Given the description of an element on the screen output the (x, y) to click on. 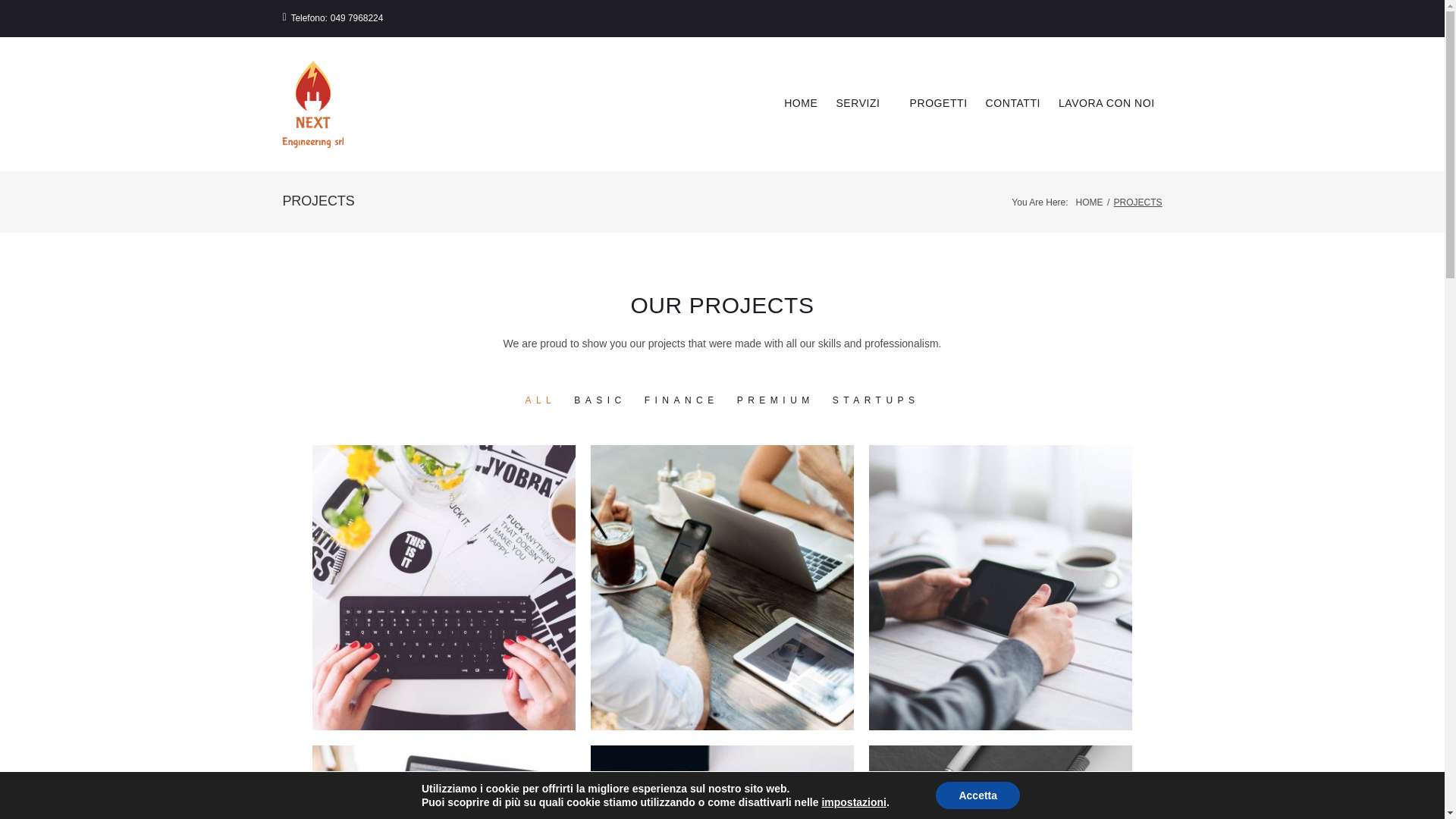
PROGETTI (938, 103)
LAVORA CON NOI (1106, 103)
HOME (800, 103)
Home (1088, 202)
049 7968224 (357, 18)
HOME (1088, 202)
SERVIZI (863, 103)
CONTATTI (1013, 103)
